Given the description of an element on the screen output the (x, y) to click on. 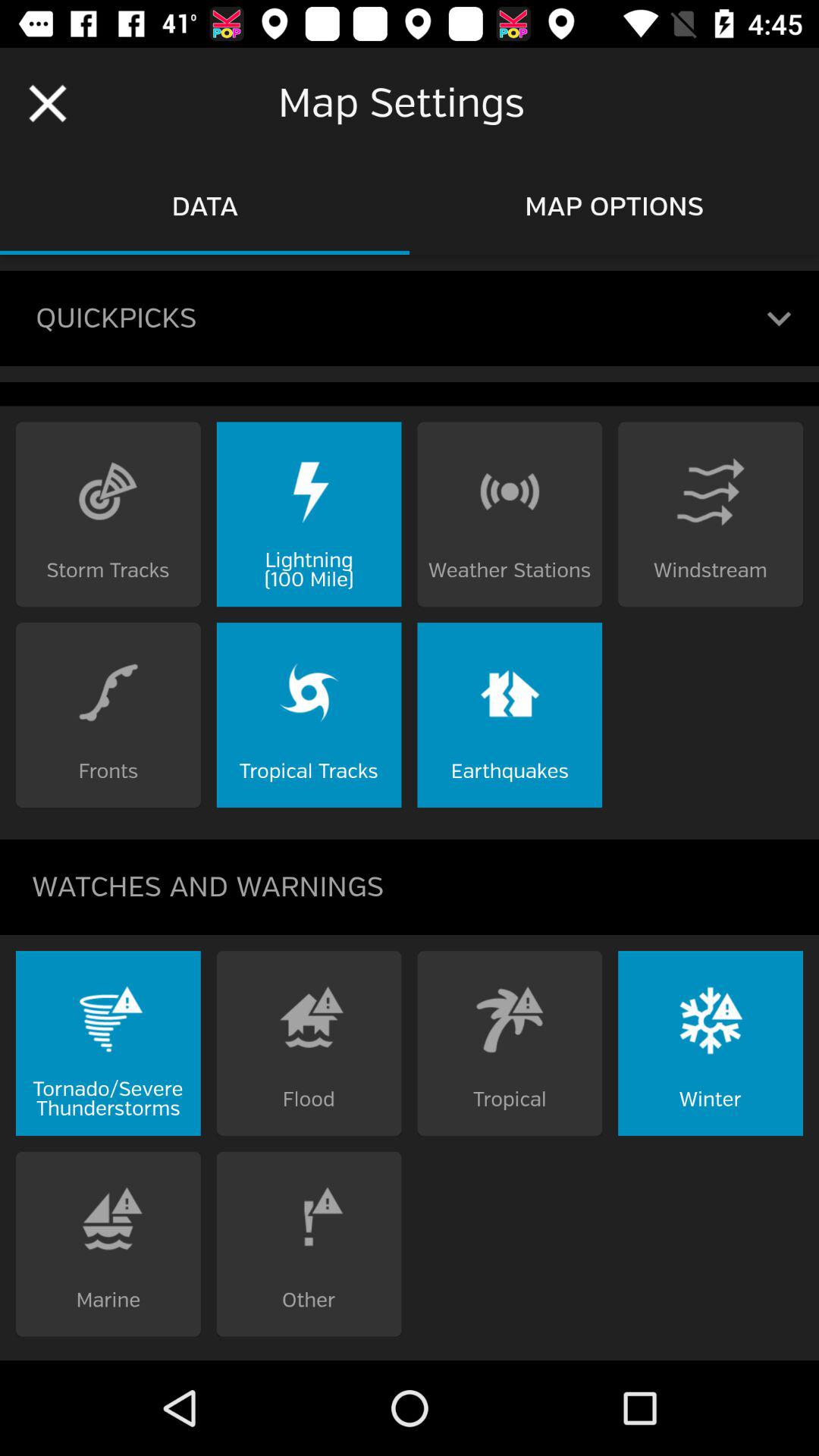
access favorites menu (779, 318)
